Given the description of an element on the screen output the (x, y) to click on. 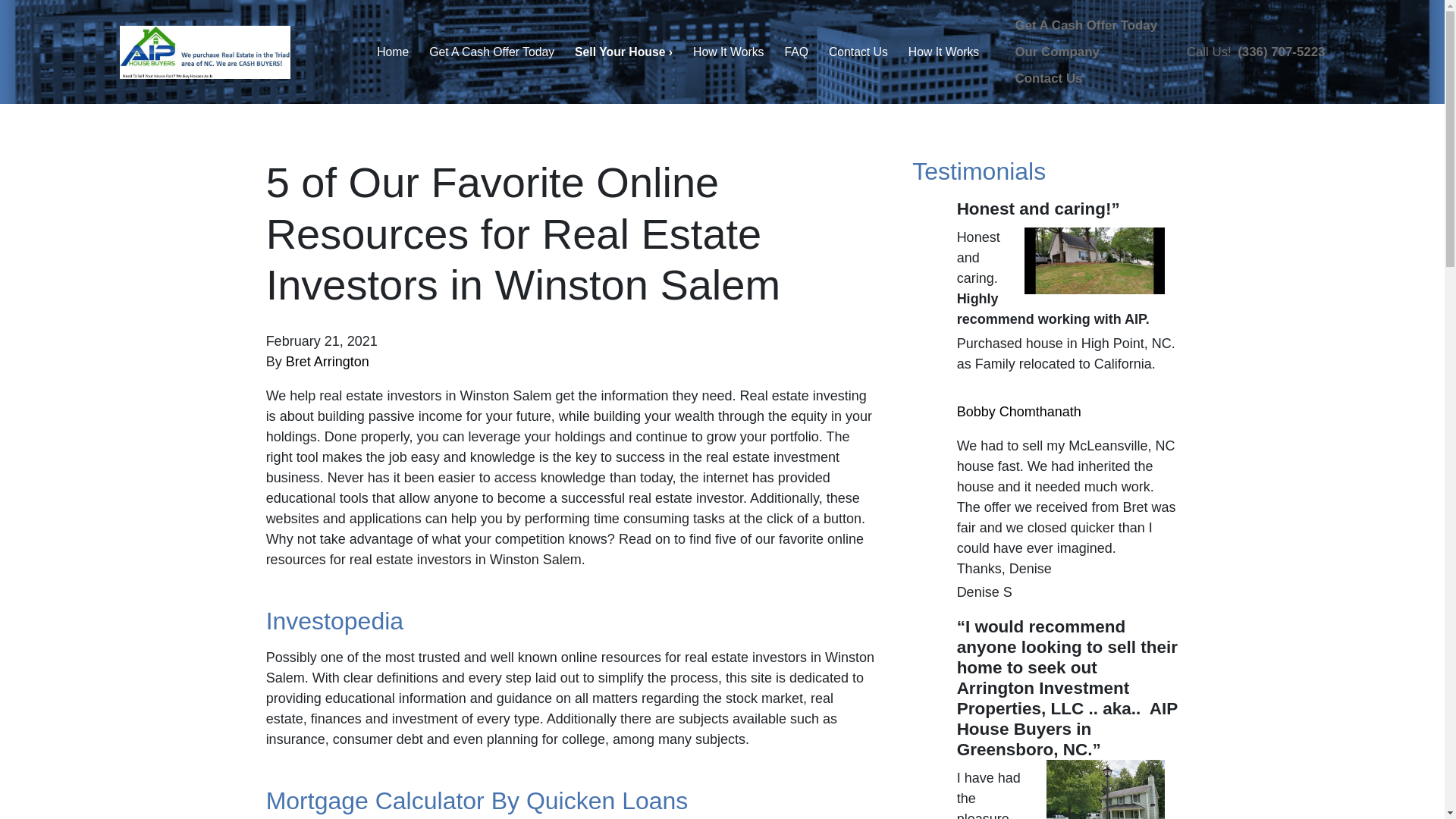
How It Works (728, 52)
Bobby Chomthanath (1018, 411)
Bret Arrington (327, 361)
Get A Cash Offer Today (1085, 25)
Get A Cash Offer Today (491, 52)
Our Company (1056, 51)
Contact Us (1047, 78)
How It Works (943, 52)
Contact Us (858, 52)
